Given the description of an element on the screen output the (x, y) to click on. 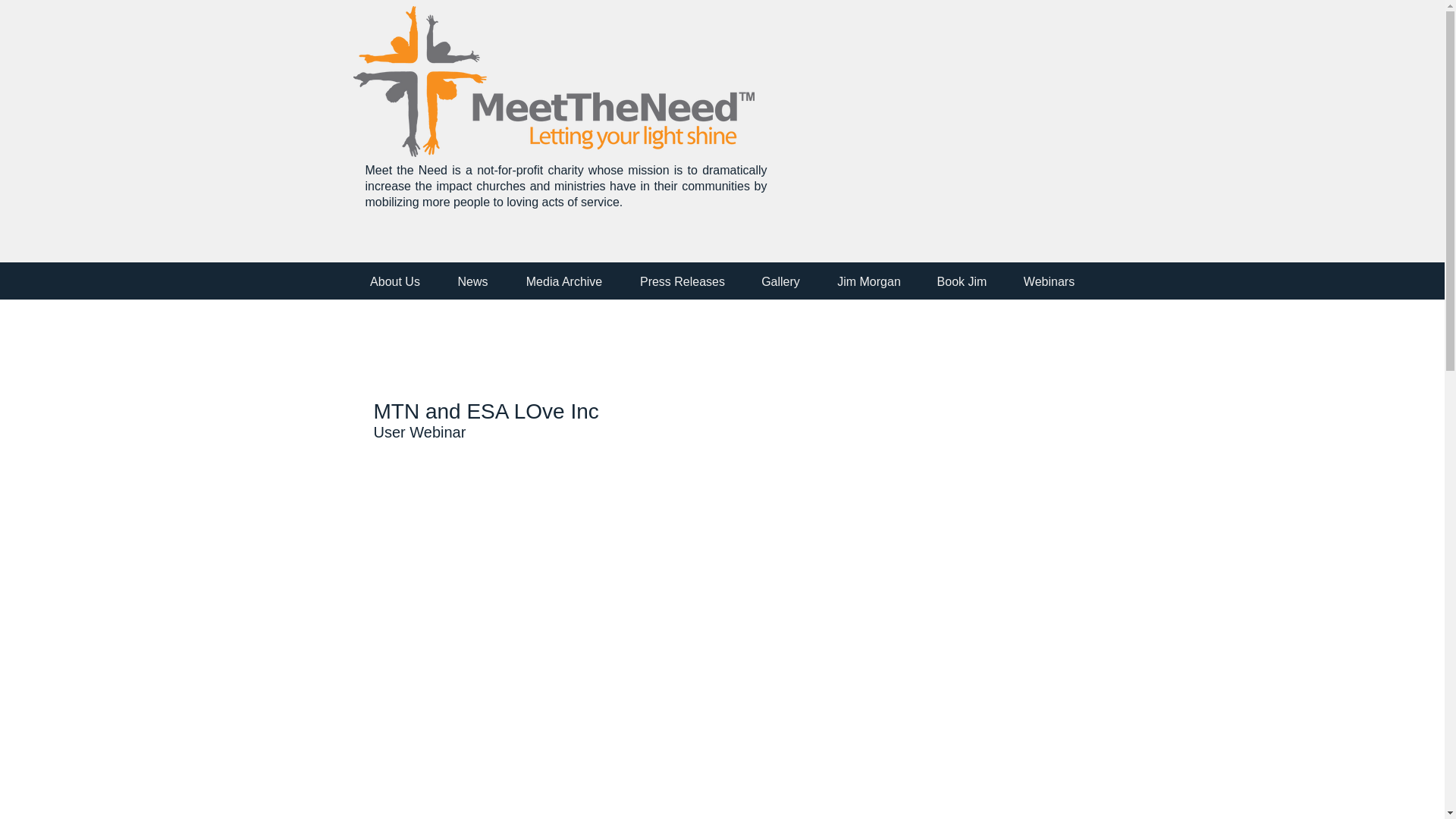
Book Jim (961, 281)
Press Releases (681, 281)
About Us (394, 281)
News (472, 281)
Webinars (1048, 281)
External Vimeo (932, 121)
Media Archive (564, 281)
Gallery (780, 281)
Jim Morgan (869, 281)
